Given the description of an element on the screen output the (x, y) to click on. 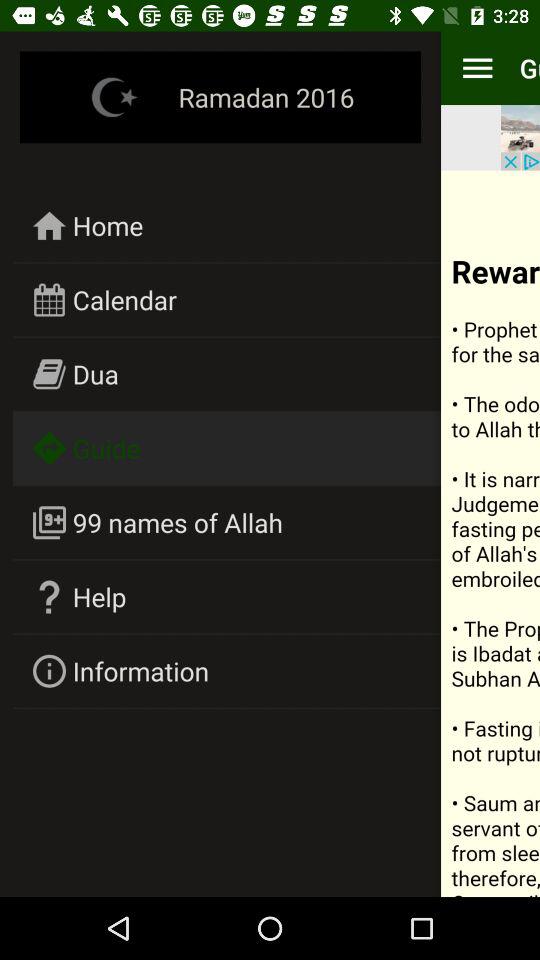
turn off icon below help icon (141, 670)
